Given the description of an element on the screen output the (x, y) to click on. 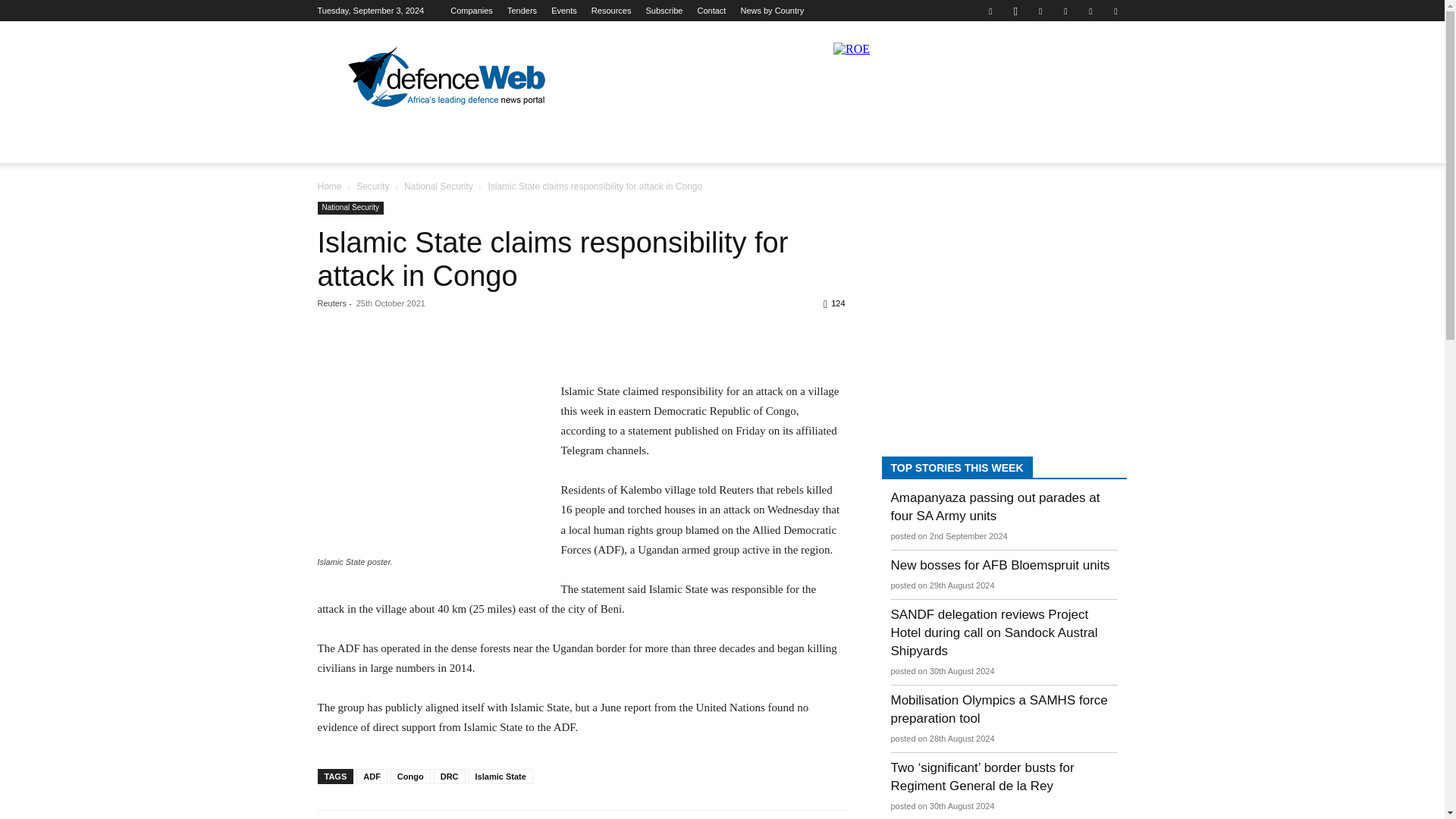
Twitter (1090, 10)
Linkedin (1040, 10)
Instagram (1015, 10)
Mail (1065, 10)
Youtube (1114, 10)
Facebook (989, 10)
